Given the description of an element on the screen output the (x, y) to click on. 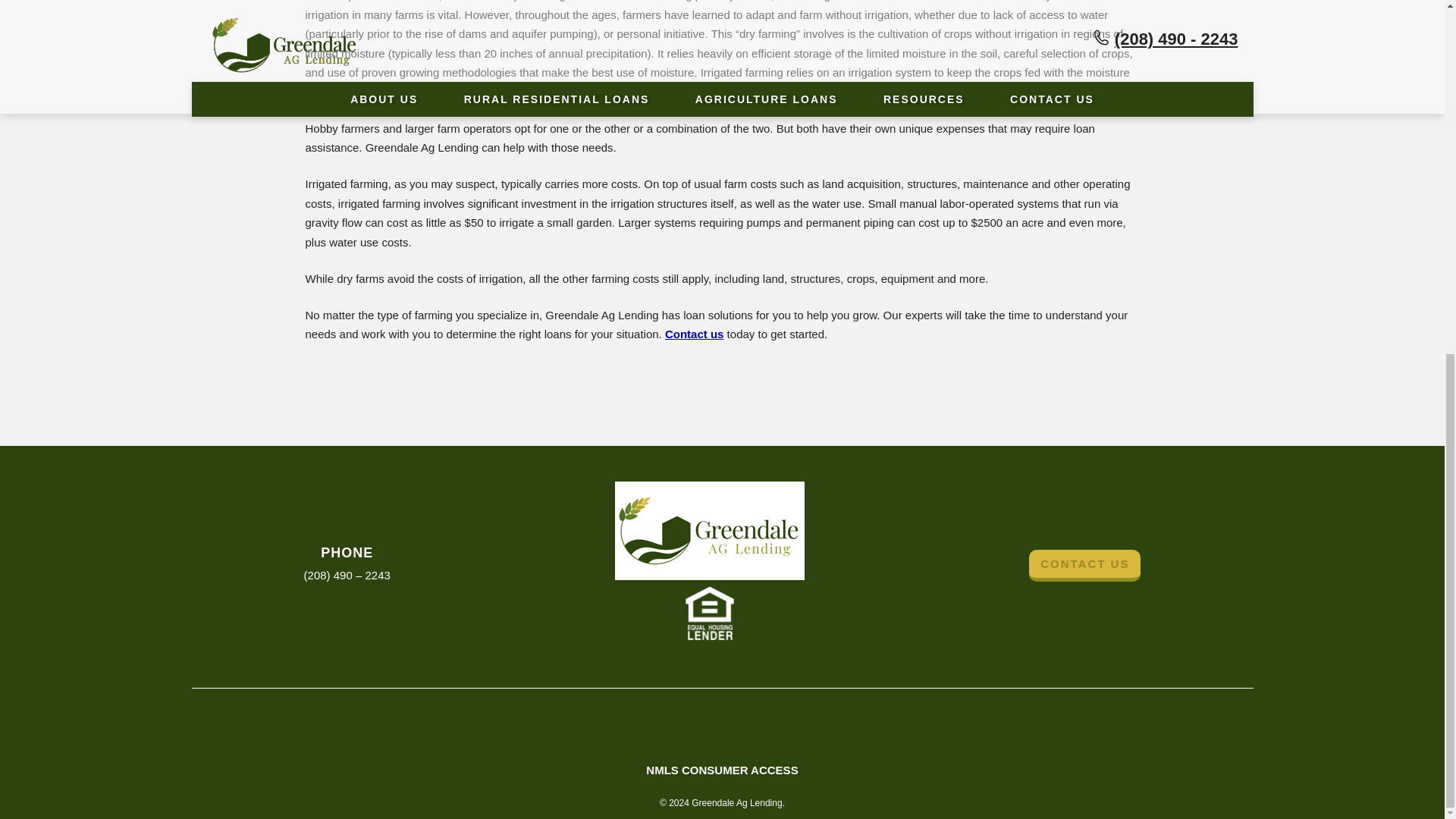
NMLS CONSUMER ACCESS (721, 769)
CONTACT US (1084, 565)
Contact us (694, 333)
